Given the description of an element on the screen output the (x, y) to click on. 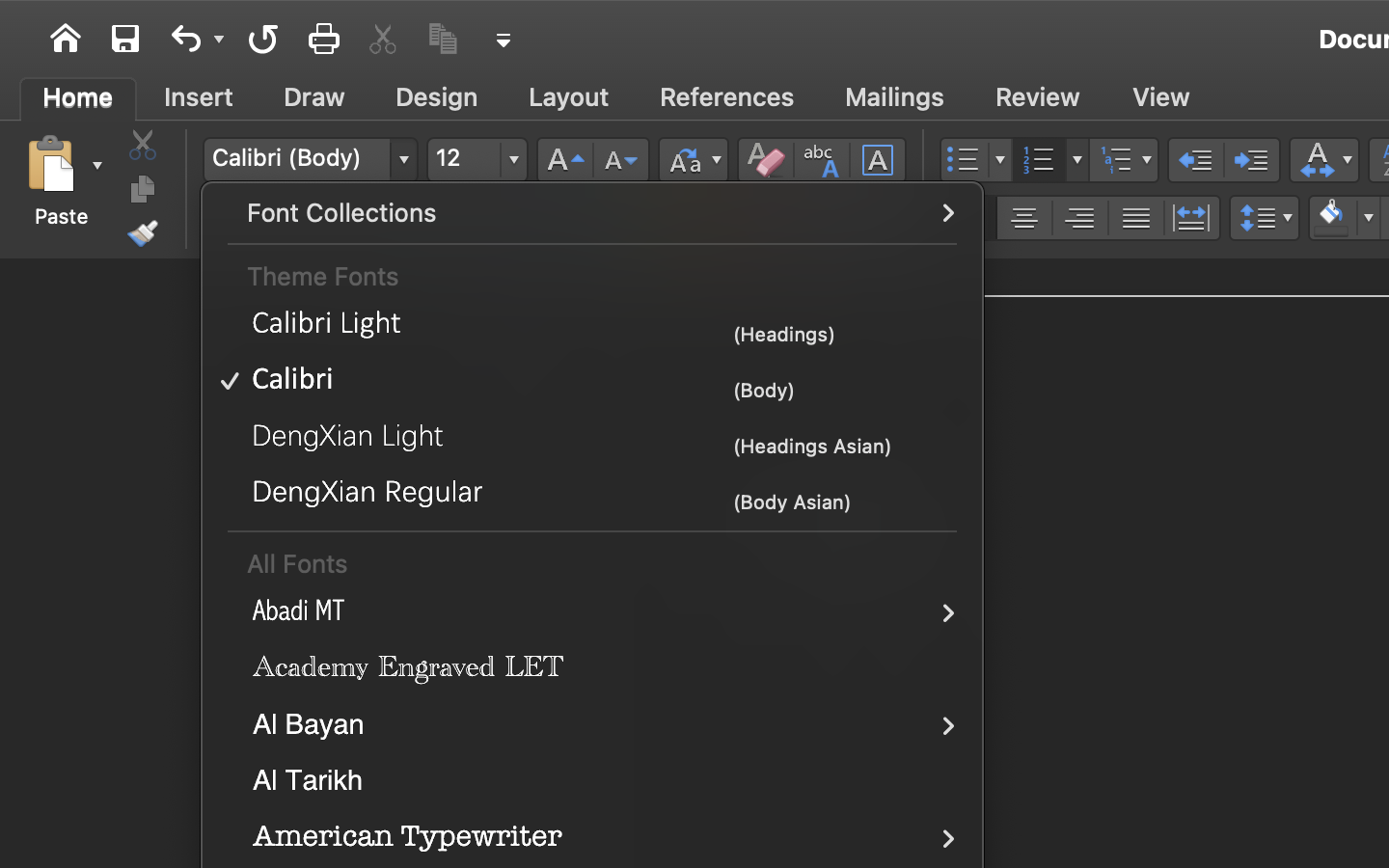
1 Element type: AXRadioButton (77, 97)
12 Element type: AXComboBox (477, 160)
0 Element type: AXRadioButton (726, 97)
Calibri (Body) Element type: AXComboBox (310, 160)
